Given the description of an element on the screen output the (x, y) to click on. 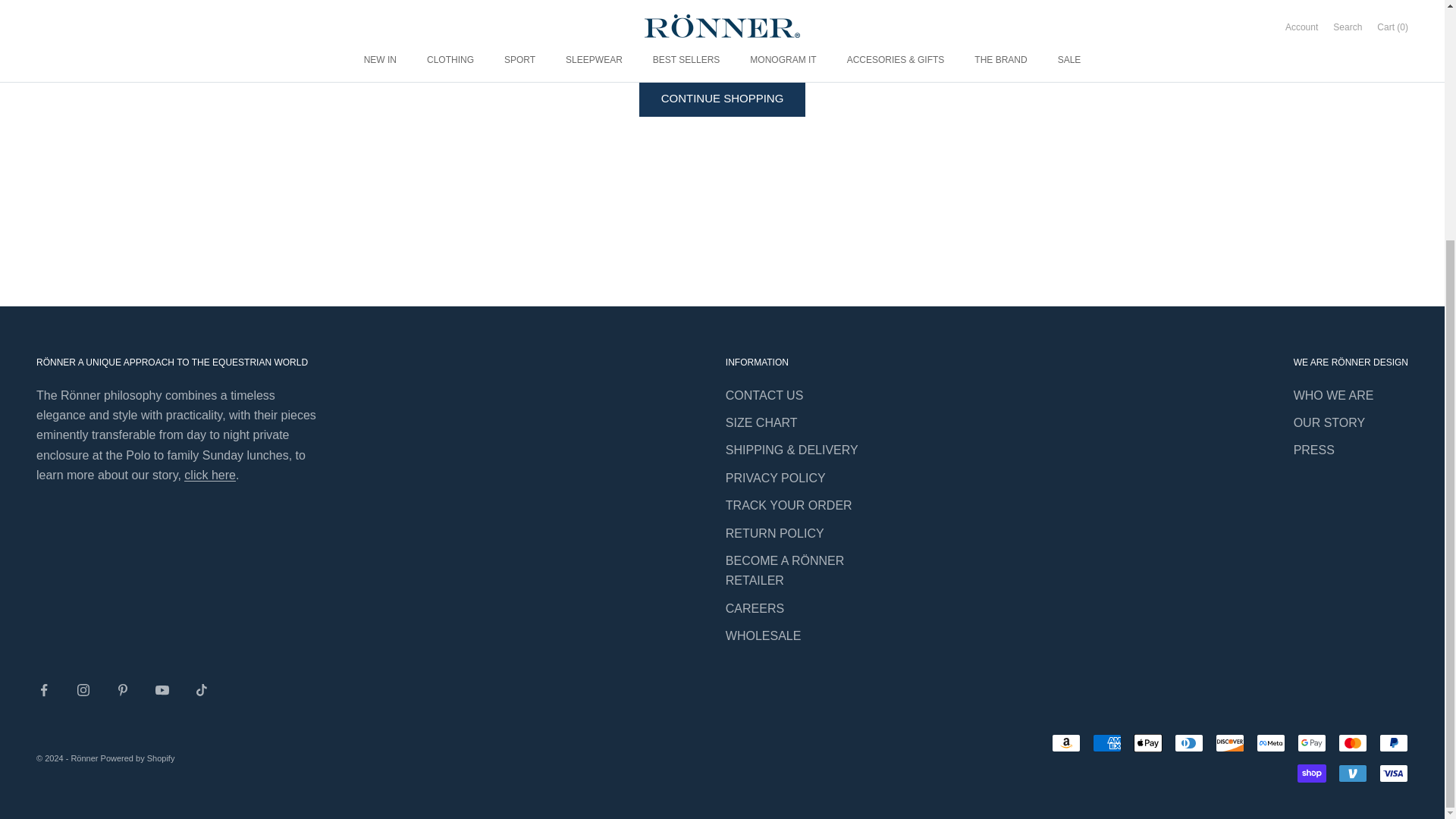
The Story Behind our Brand (209, 474)
